Given the description of an element on the screen output the (x, y) to click on. 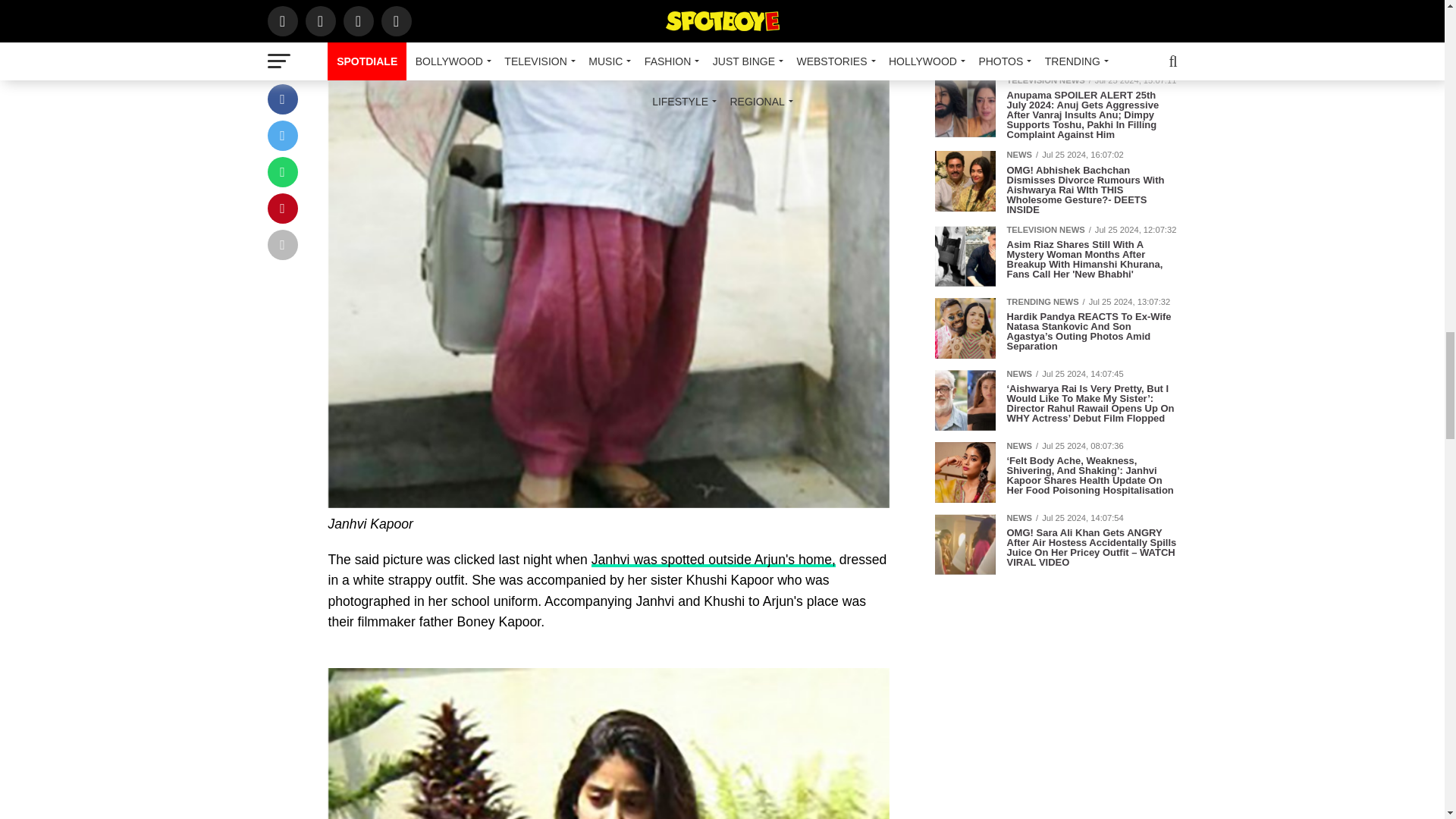
Janhvi Kapoor (607, 743)
